Given the description of an element on the screen output the (x, y) to click on. 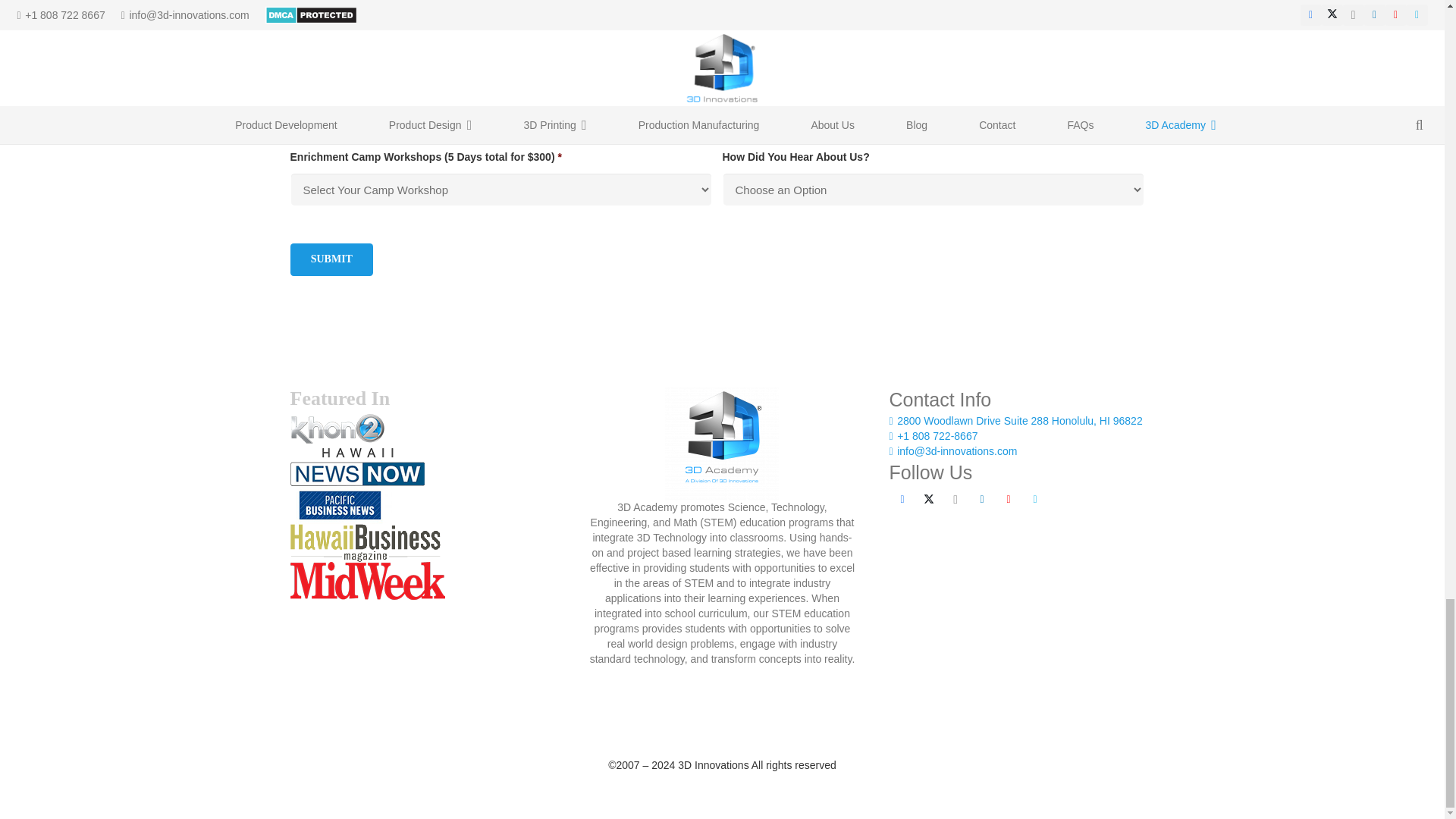
Twitter (928, 499)
Vimeo (1035, 499)
YouTube (1008, 499)
SUBMIT (330, 259)
SUBMIT (330, 259)
Instagram (955, 499)
Facebook (901, 499)
LinkedIn (981, 499)
2800 Woodlawn Drive Suite 288 Honolulu, HI 96822 (1014, 420)
